Given the description of an element on the screen output the (x, y) to click on. 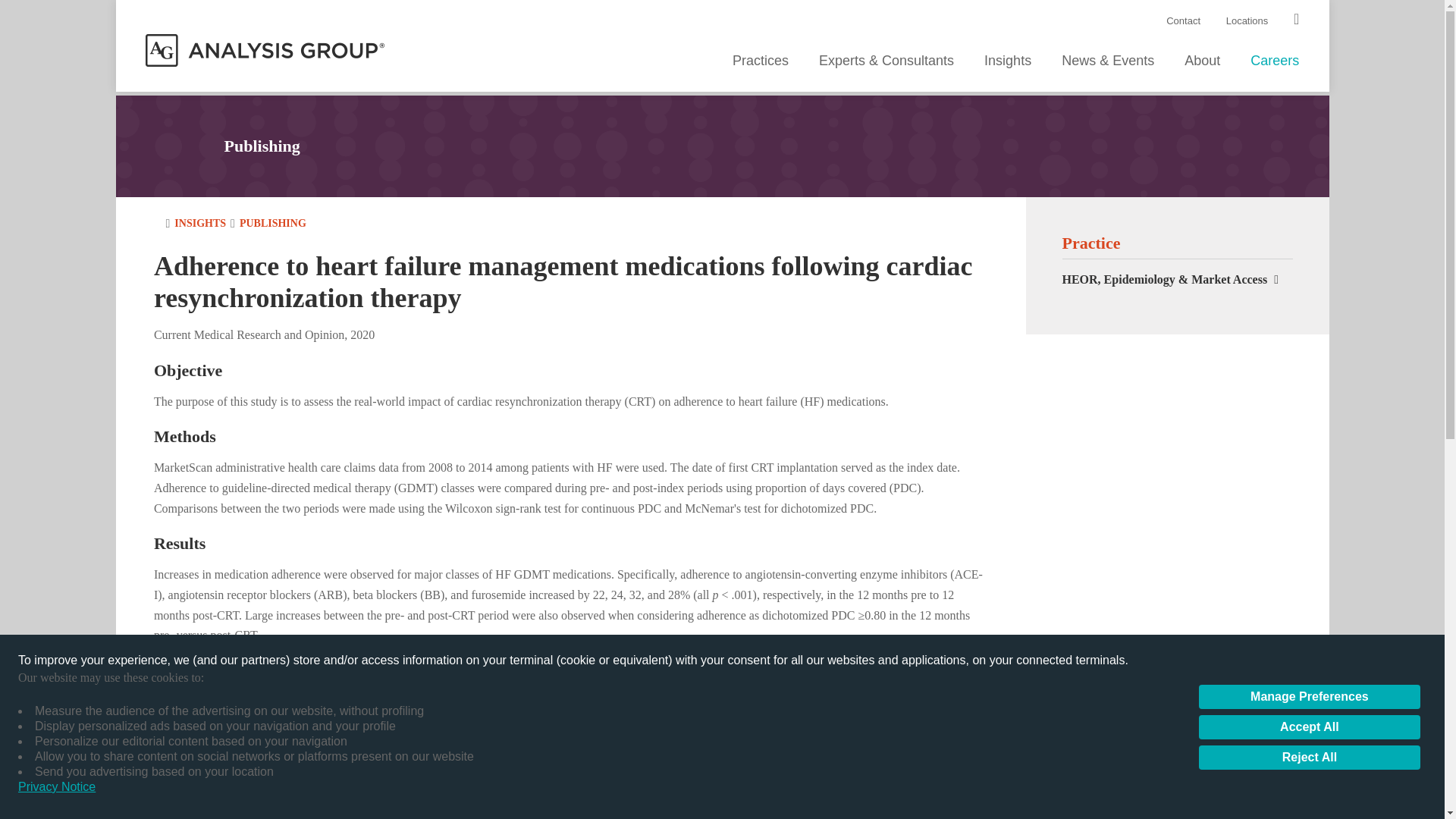
Contact (1182, 20)
Privacy Notice (56, 786)
Locations (1246, 20)
Manage Preferences (1309, 696)
Accept All (1309, 726)
Practices (760, 62)
Reject All (1309, 757)
